Given the description of an element on the screen output the (x, y) to click on. 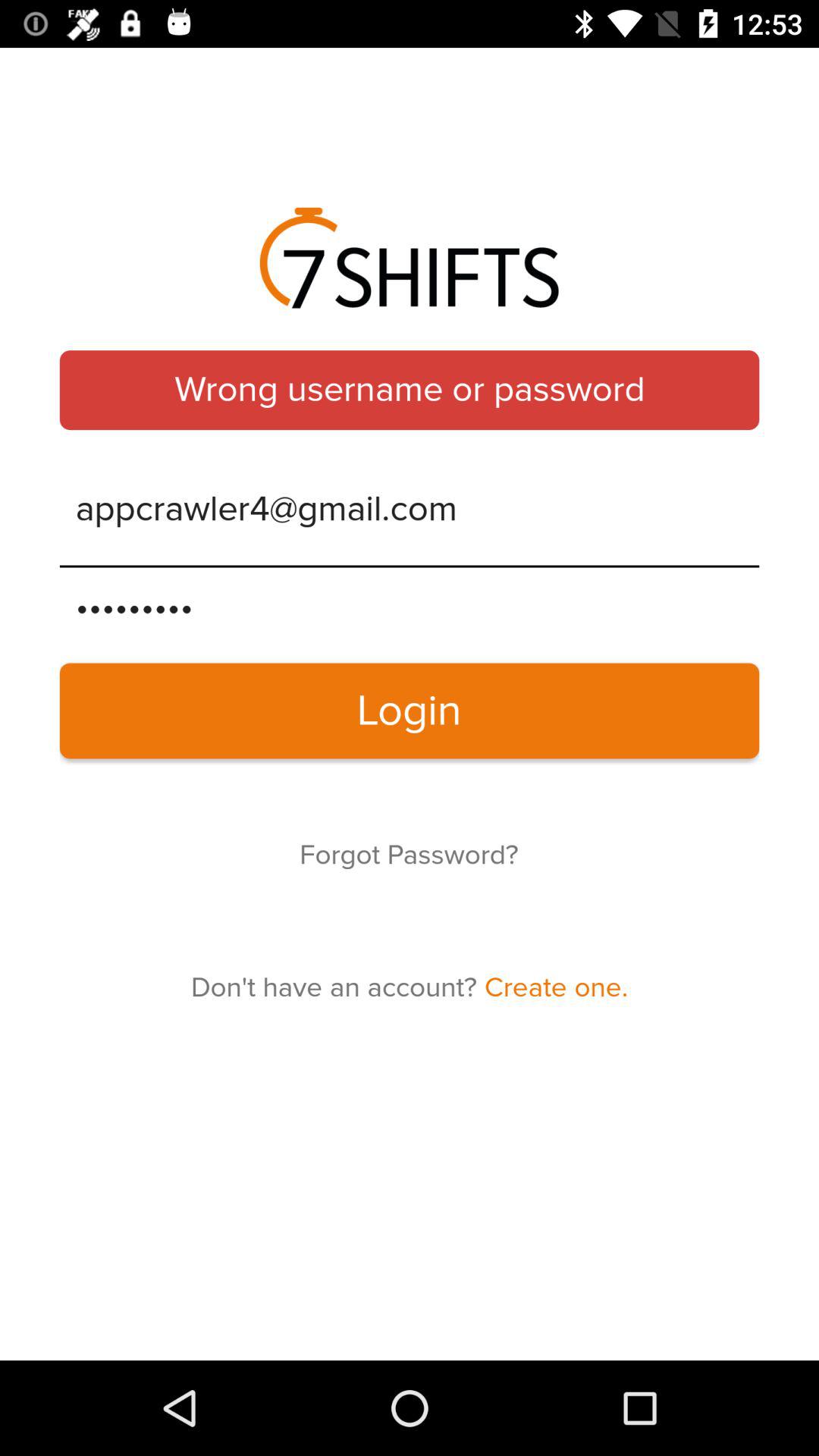
turn on the item above the forgot password? (409, 710)
